Given the description of an element on the screen output the (x, y) to click on. 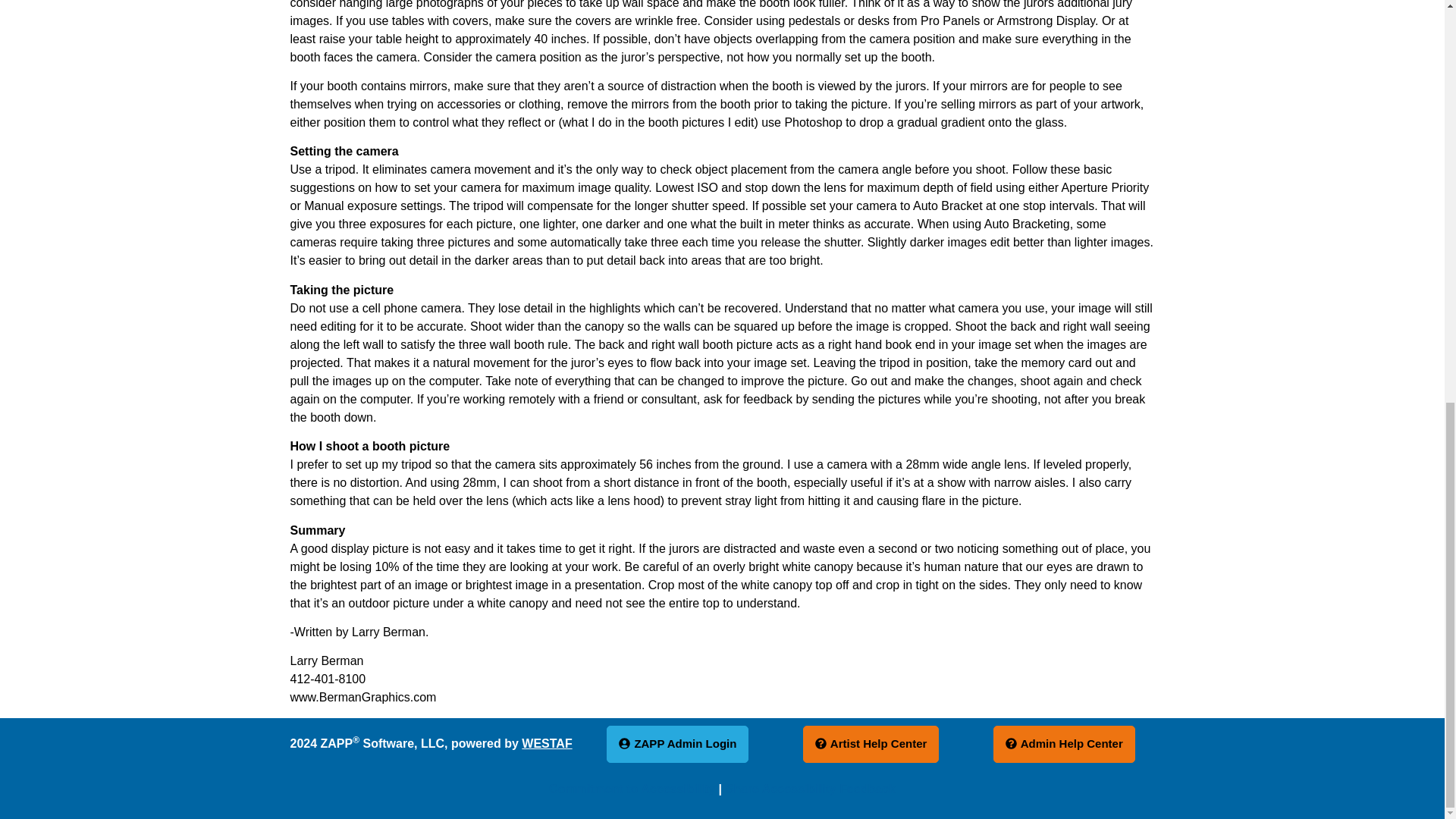
Admin Help Center (1063, 743)
Artist Help Center (871, 743)
WESTAF (546, 743)
Commitment to Accessibility (631, 788)
ZAPP Admin Login (677, 743)
Share Accessibility Feedback (810, 788)
